Given the description of an element on the screen output the (x, y) to click on. 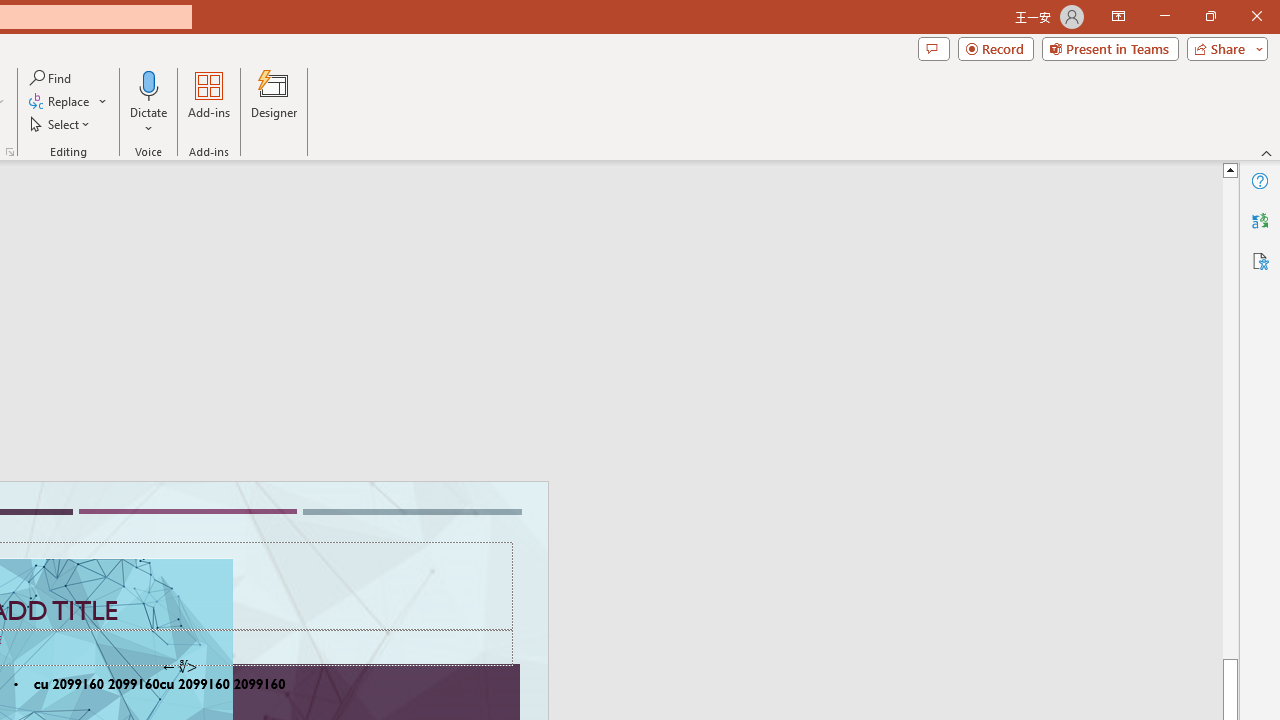
TextBox 61 (186, 686)
TextBox 7 (179, 667)
